Given the description of an element on the screen output the (x, y) to click on. 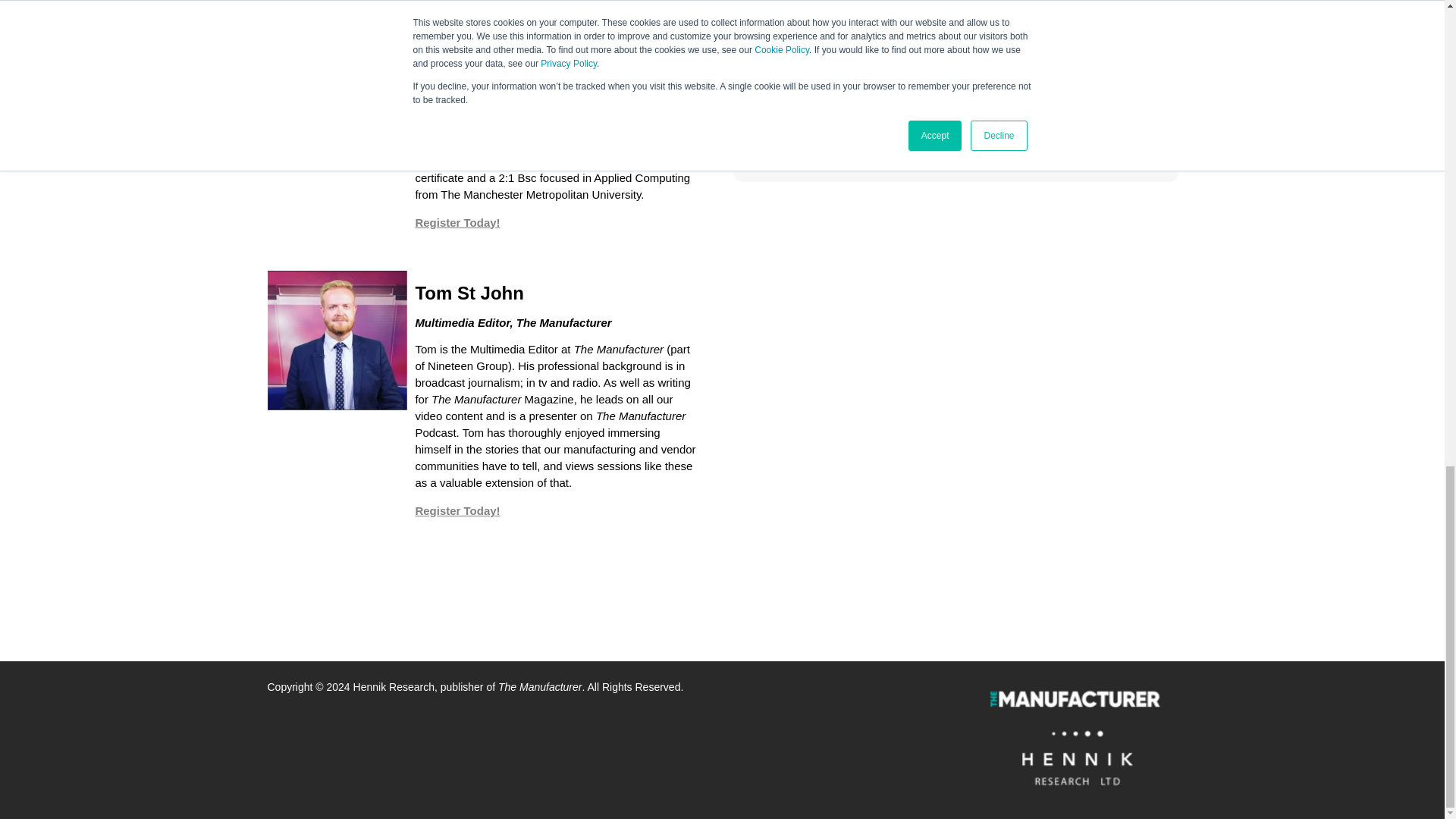
Register Today! (456, 510)
Register Today! (456, 222)
here (988, 23)
Submit (955, 119)
Submit (955, 119)
Sara Halliday (336, 52)
TM and Hennik Logo (1074, 740)
